Given the description of an element on the screen output the (x, y) to click on. 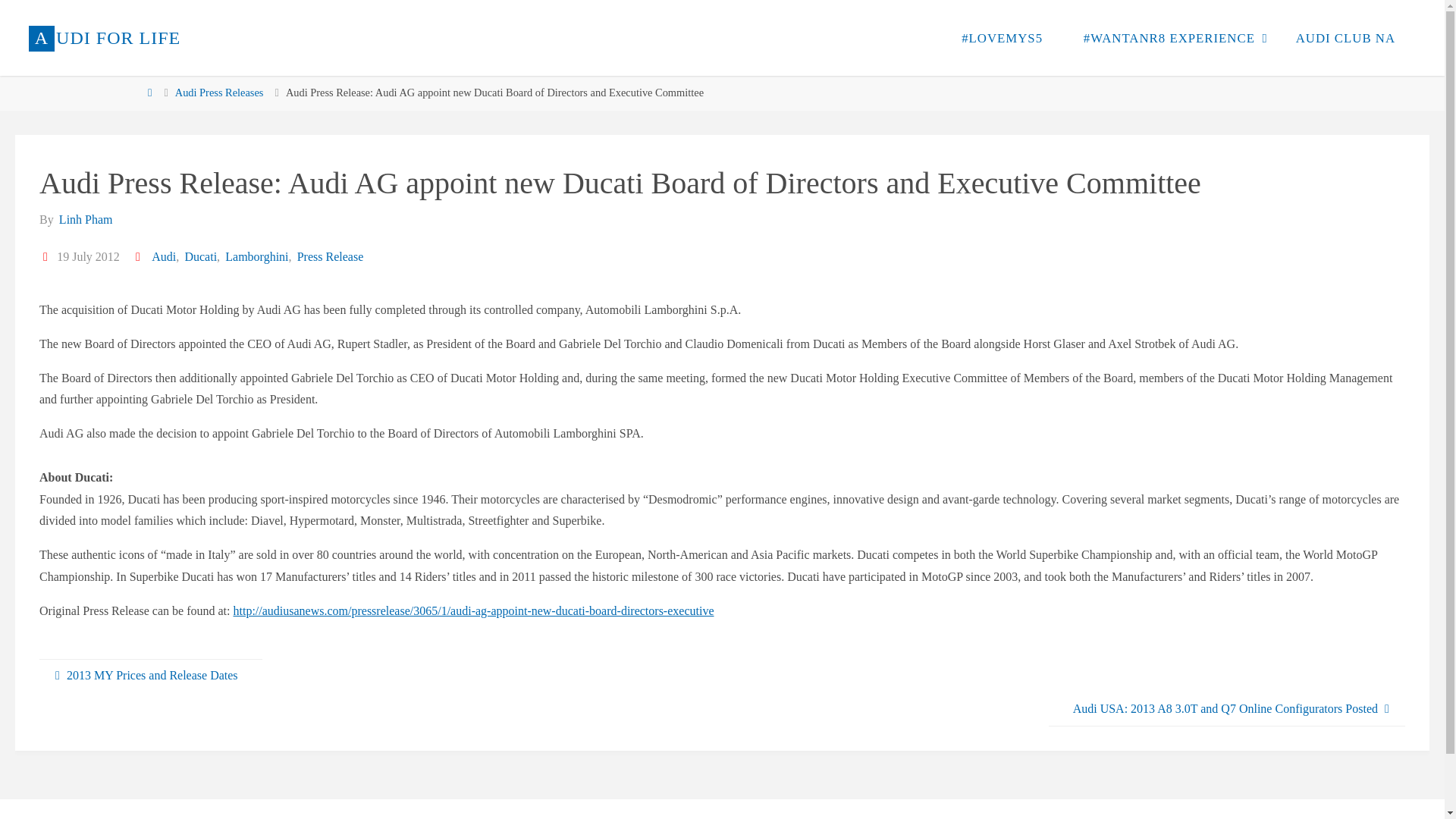
Press Release (329, 256)
Ducati (199, 256)
Audi USA: 2013 A8 3.0T and Q7 Online Configurators Posted (1226, 709)
Tagged (139, 256)
Linh Pham (84, 219)
AUDI CLUB NA (1345, 38)
Lamborghini (255, 256)
Audi (162, 256)
View all posts by Linh Pham (84, 219)
Home (149, 92)
2013 MY Prices and Release Dates (150, 675)
Date (46, 256)
Audi Press Releases (218, 92)
Home (149, 92)
AUDI FOR LIFE (104, 37)
